Given the description of an element on the screen output the (x, y) to click on. 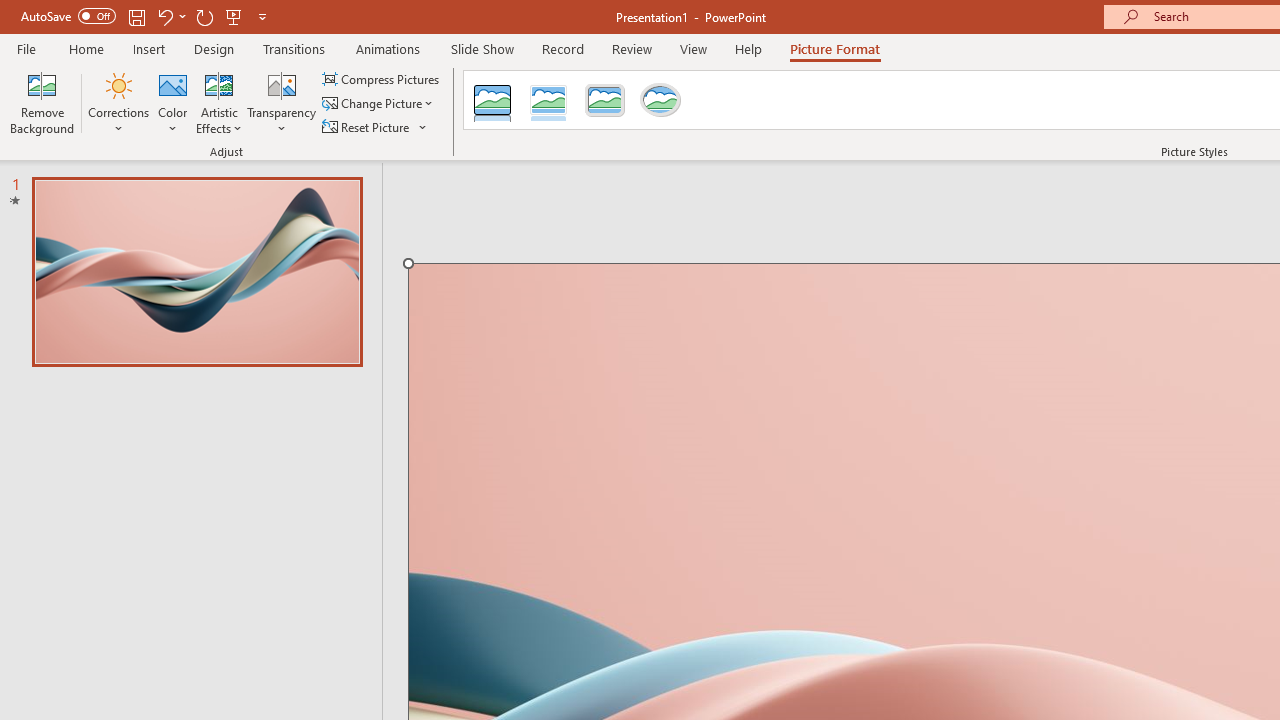
Picture Format (834, 48)
Reset Picture (367, 126)
Remove Background (41, 102)
Corrections (118, 102)
